Given the description of an element on the screen output the (x, y) to click on. 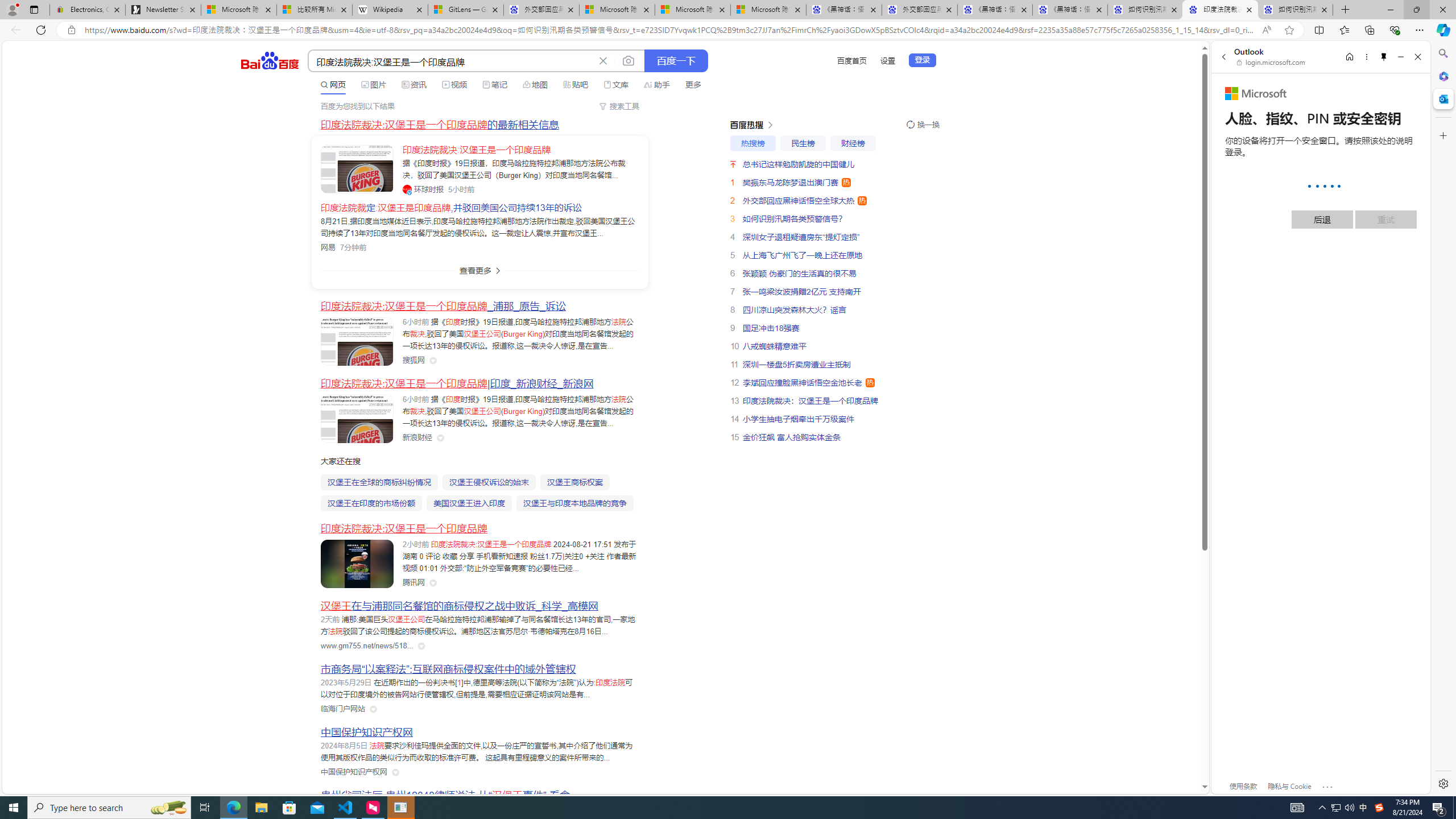
Unpin side pane (1383, 56)
login.microsoft.com (1271, 61)
Class: siteLink_9TPP3 (353, 772)
